Given the description of an element on the screen output the (x, y) to click on. 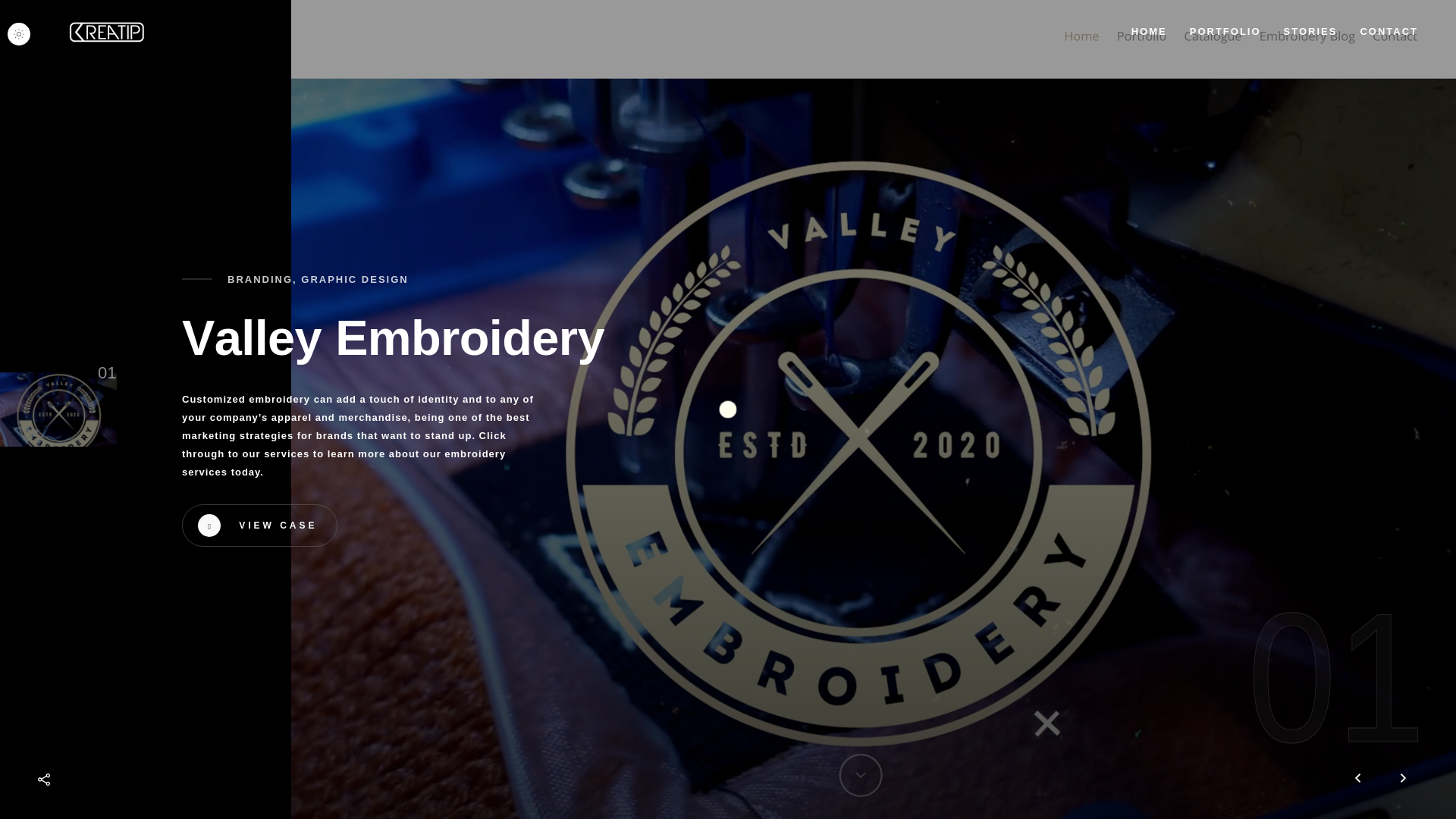
VIEW CASE (259, 525)
Valley Embroidery (393, 337)
CONTACT (1388, 31)
Portfolio (1224, 31)
HOME (1149, 31)
PORTFOLIO (1224, 31)
Stories (1311, 31)
Contact (1388, 31)
Home (1149, 31)
STORIES (1311, 31)
